Given the description of an element on the screen output the (x, y) to click on. 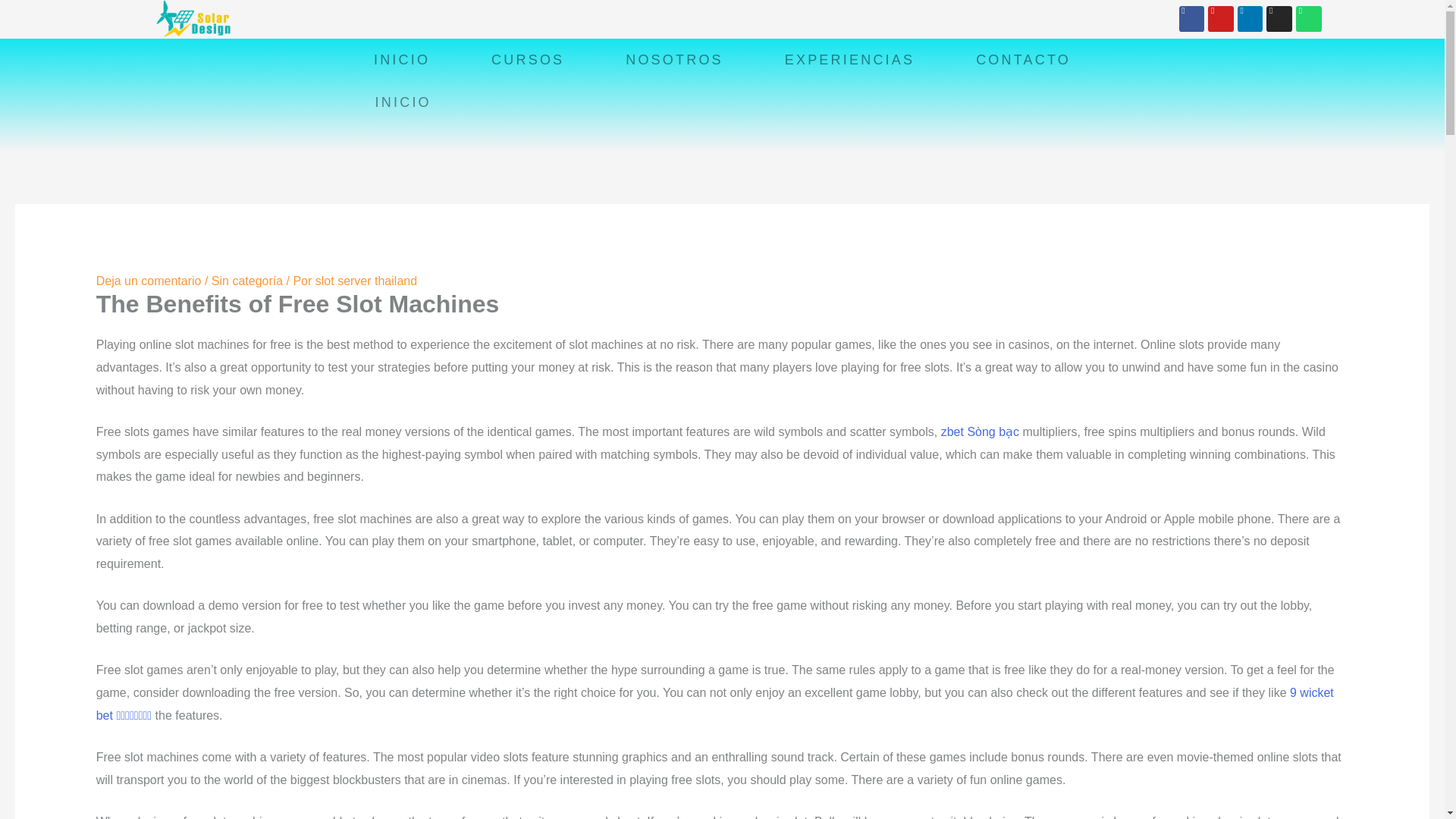
EXPERIENCIAS (849, 59)
NOSOTROS (674, 59)
CONTACTO (1023, 59)
INICIO (402, 102)
CURSOS (528, 59)
INICIO (401, 59)
Ver todas las entradas de slot server thailand (365, 280)
